Given the description of an element on the screen output the (x, y) to click on. 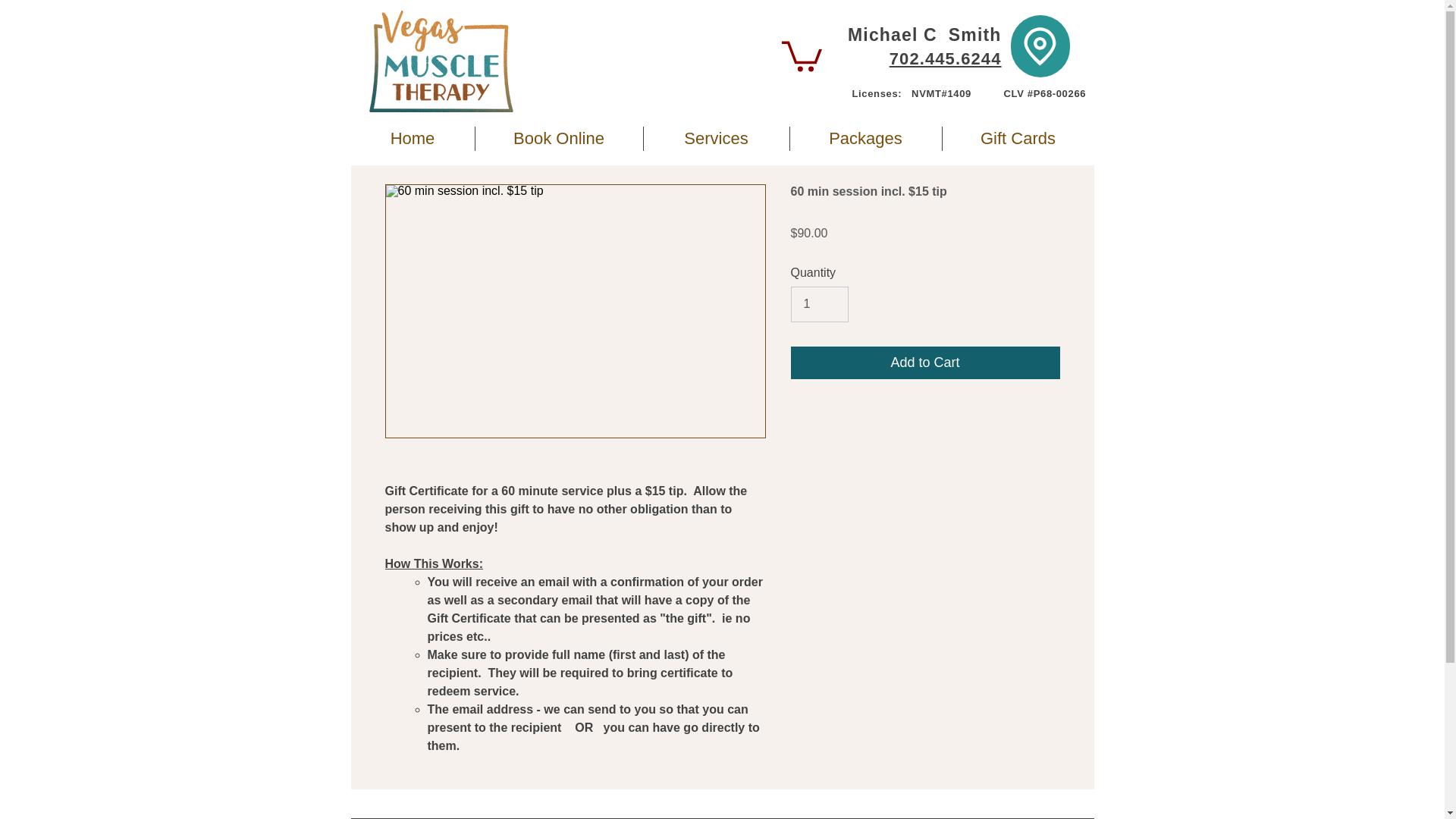
Home (412, 138)
702.445.6244 (945, 58)
Packages (866, 138)
Book Online (558, 138)
Services (716, 138)
Add to Cart (924, 362)
1 (818, 303)
Gift Cards (1017, 138)
Michael C  Smith (924, 35)
